Given the description of an element on the screen output the (x, y) to click on. 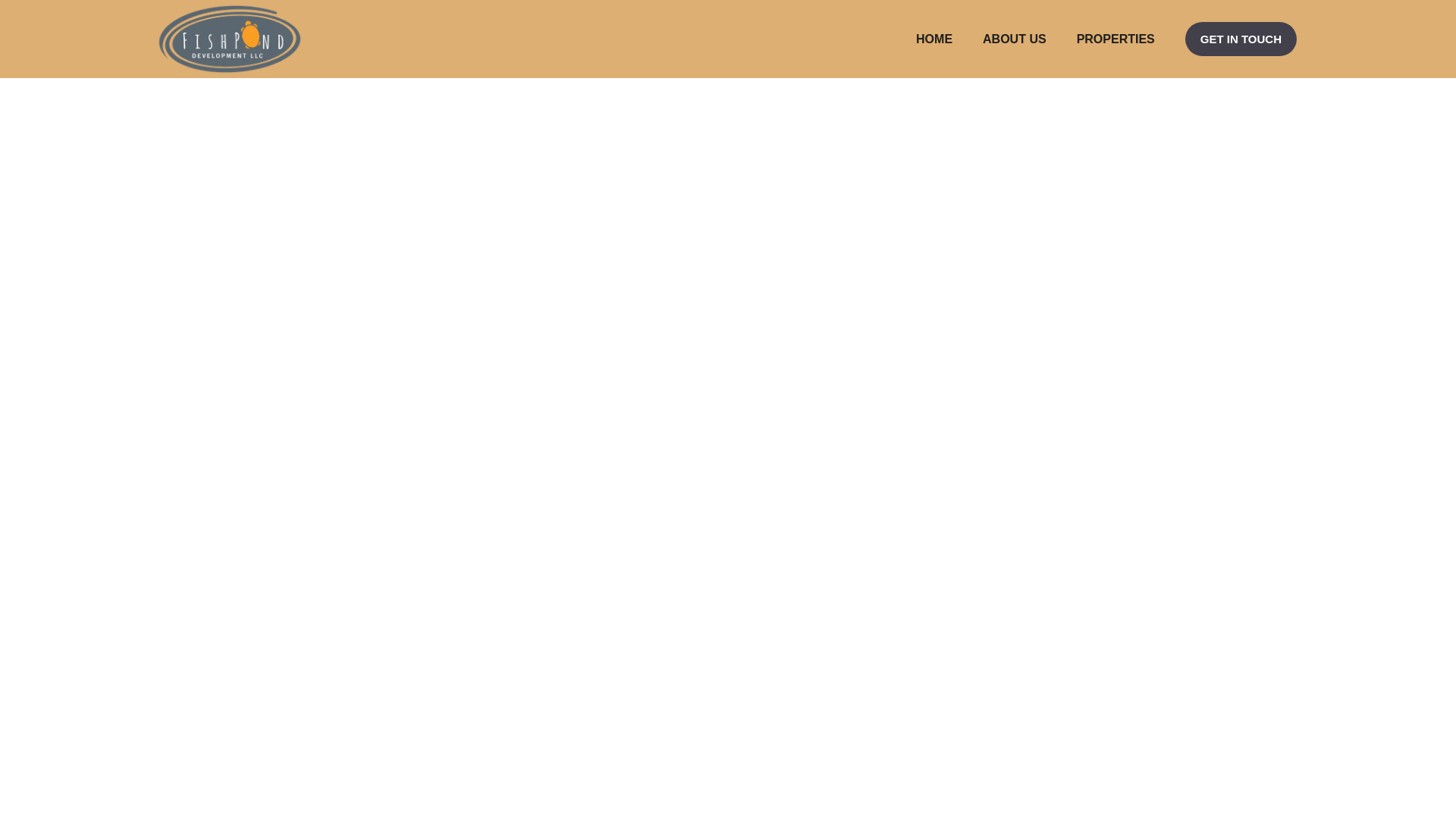
PROPERTIES (1115, 39)
HOME (934, 39)
ABOUT US (1014, 39)
GET IN TOUCH (1241, 39)
